Given the description of an element on the screen output the (x, y) to click on. 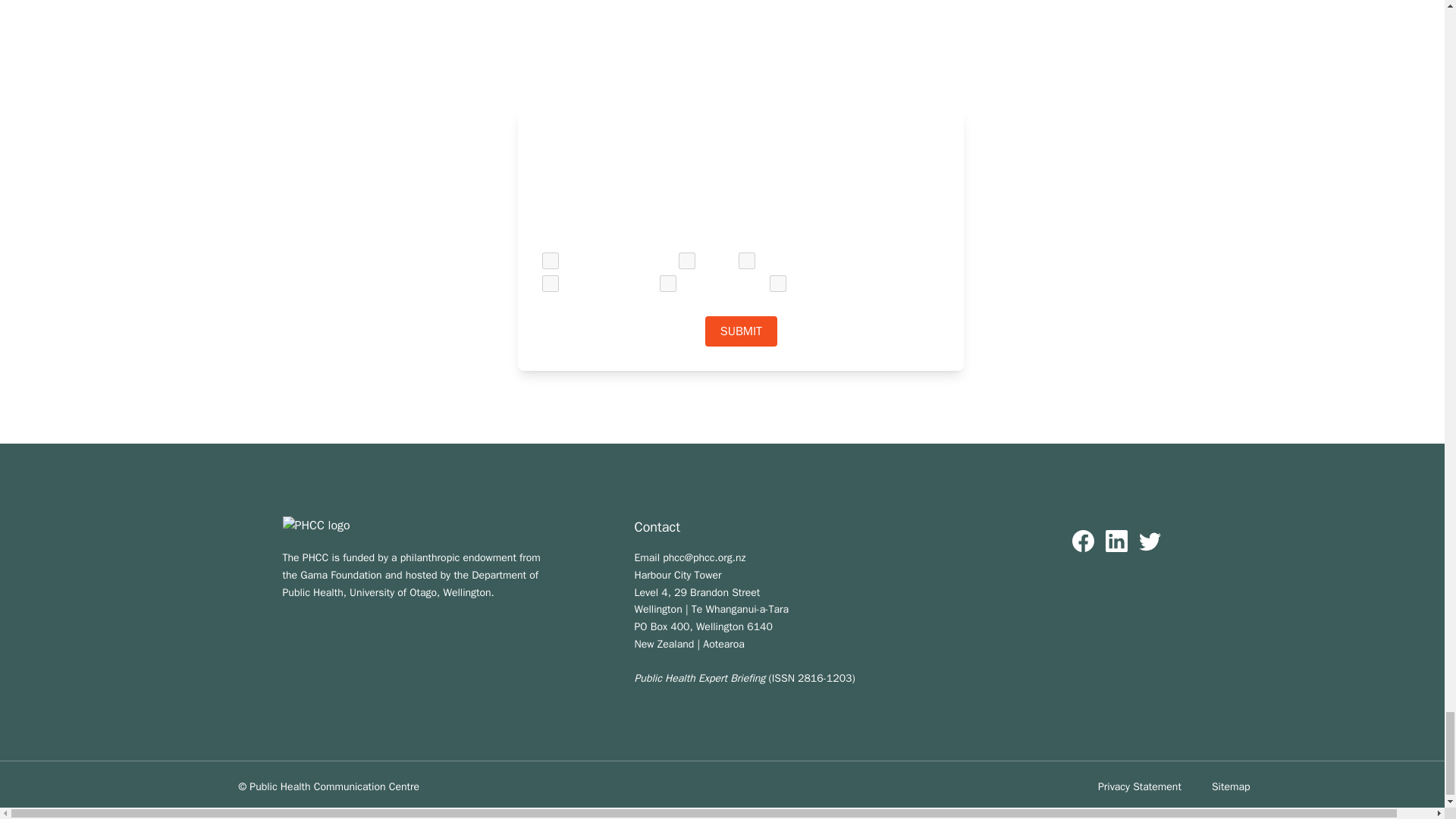
3c4929455e (746, 260)
73fdc935e7 (778, 283)
d887bd3215 (550, 260)
97da1f6819 (686, 260)
bf0dbdefd9 (668, 283)
7cedd56cb1 (550, 283)
